Given the description of an element on the screen output the (x, y) to click on. 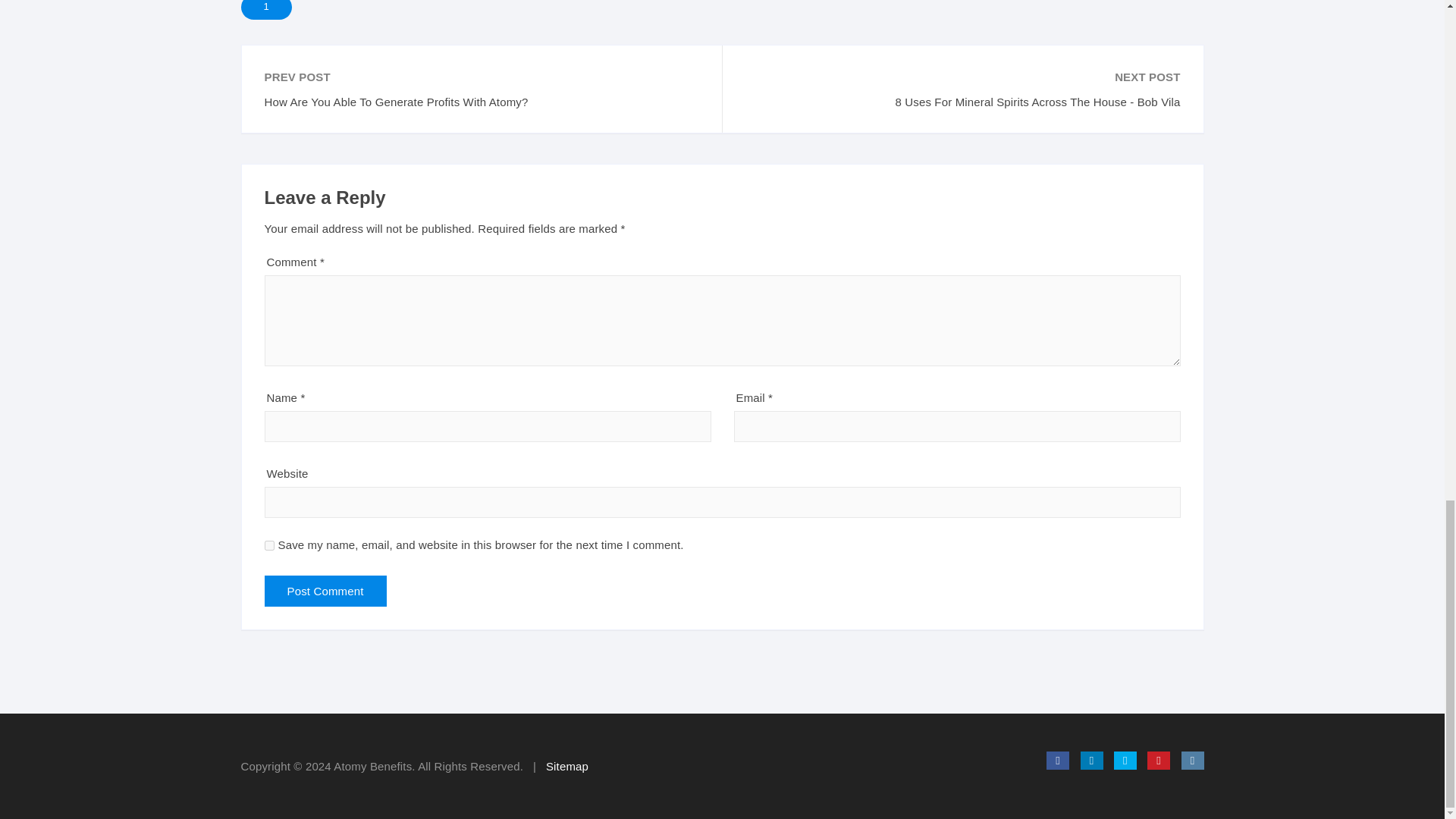
Post Comment (324, 590)
yes (268, 545)
